Given the description of an element on the screen output the (x, y) to click on. 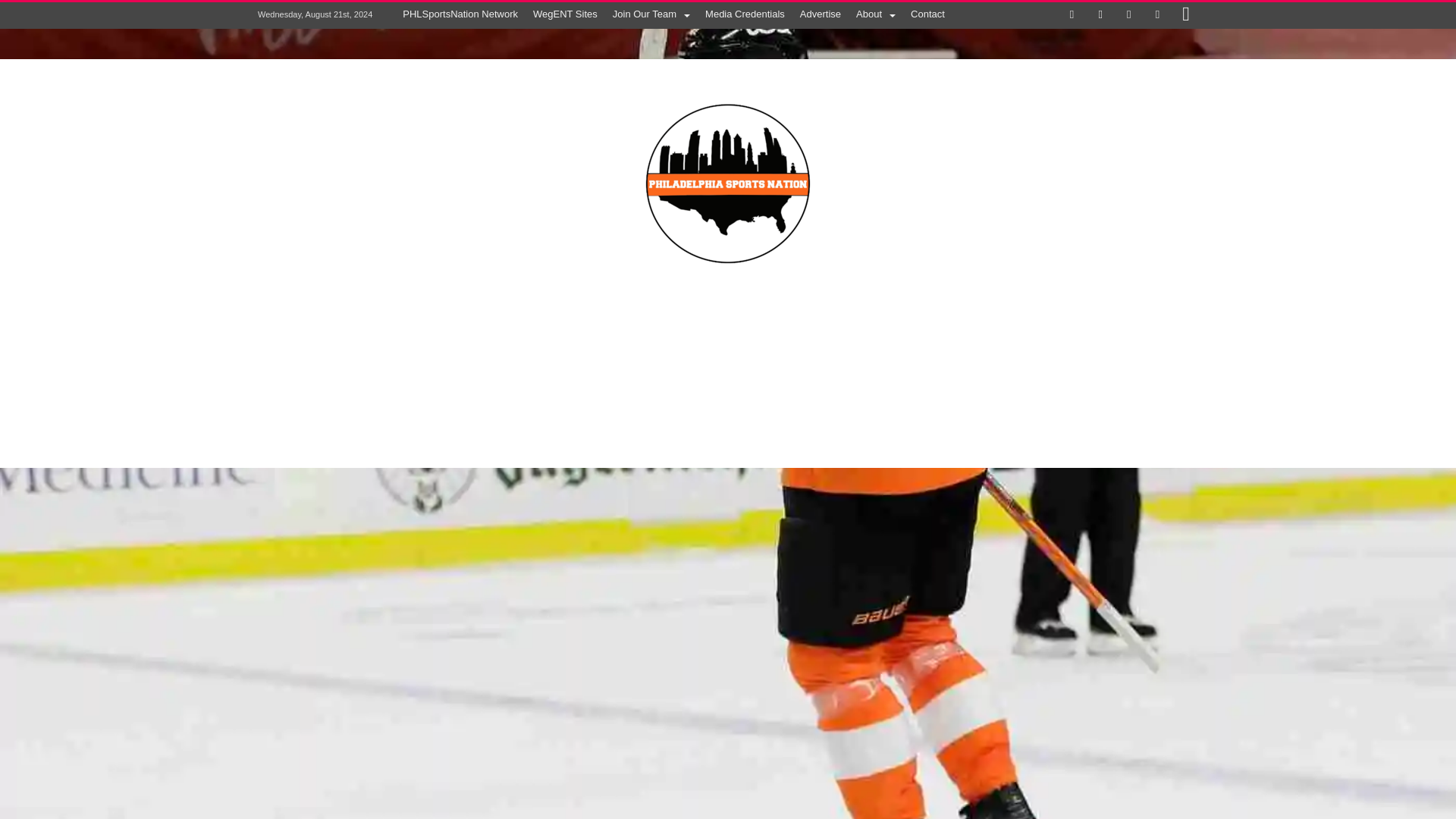
About (875, 14)
Join Our Team (651, 14)
Youtube (1156, 15)
instagram (1185, 15)
WegENT Sites (565, 14)
Media Credentials (744, 14)
Facebook (1071, 15)
Twitter (1099, 15)
Realtime sports scoreboard widget (727, 366)
Philadelphia Sports Nation (727, 81)
